Given the description of an element on the screen output the (x, y) to click on. 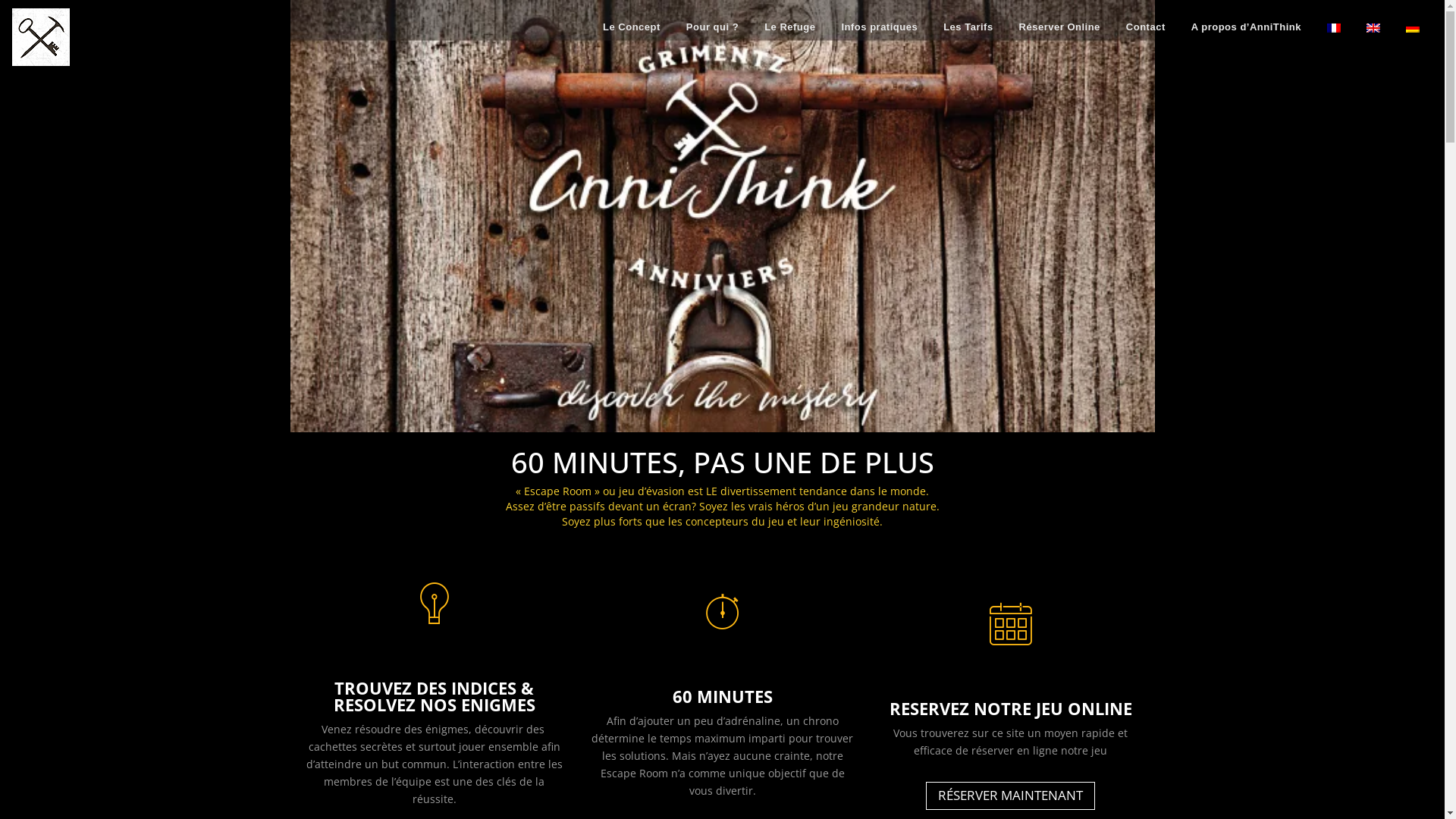
Contact Element type: text (1145, 27)
Le Refuge Element type: text (789, 27)
Infos pratiques Element type: text (878, 27)
Les Tarifs Element type: text (967, 27)
Le Concept Element type: text (631, 27)
Annithink Element type: hover (40, 35)
Pour qui ? Element type: text (711, 27)
